Given the description of an element on the screen output the (x, y) to click on. 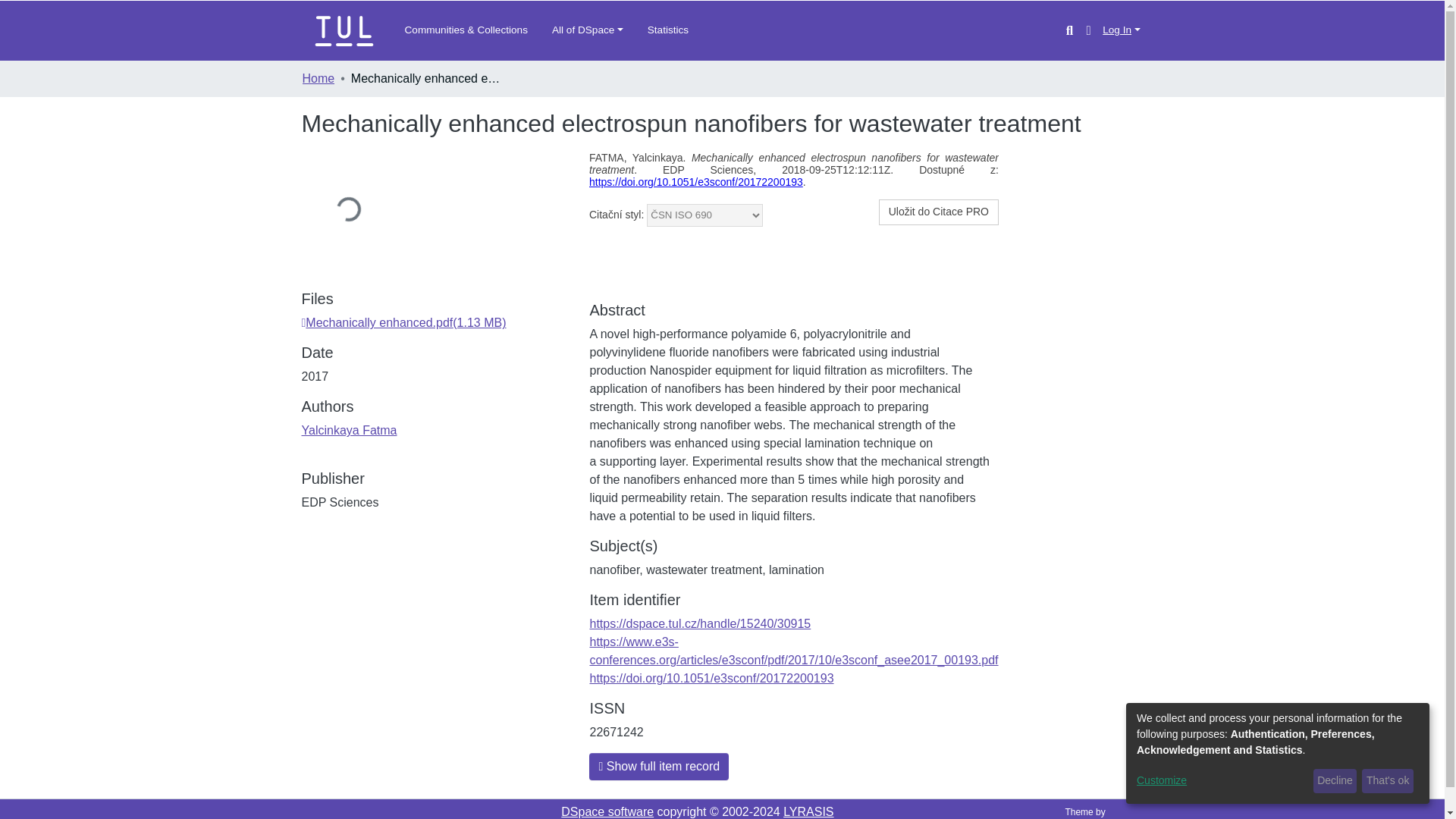
Language switch (1088, 29)
Log In (1120, 30)
Statistics (667, 29)
Statistics (667, 29)
Show full item record (659, 766)
Yalcinkaya Fatma (349, 430)
DSpace software (606, 811)
LYRASIS (807, 811)
All of DSpace (587, 29)
Search (1069, 29)
